Given the description of an element on the screen output the (x, y) to click on. 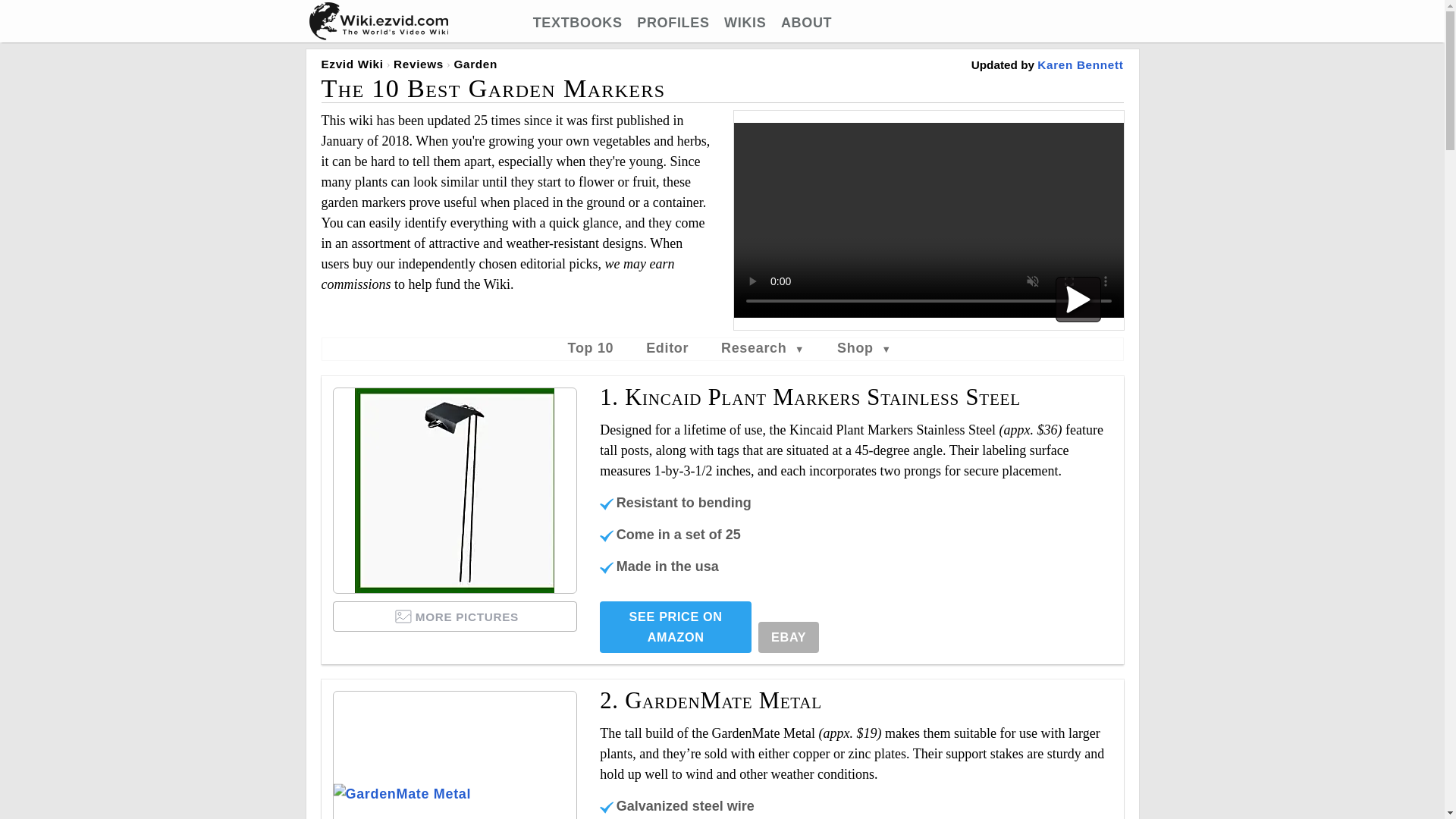
Reviews (418, 63)
PROFILES (673, 22)
Garden (474, 63)
WIKIS (744, 22)
Top 10 (590, 347)
SEE PRICE ON AMAZON (675, 626)
Karen Bennett (1079, 64)
EBAY (788, 636)
Editor (667, 347)
TEXTBOOKS (577, 22)
